Given the description of an element on the screen output the (x, y) to click on. 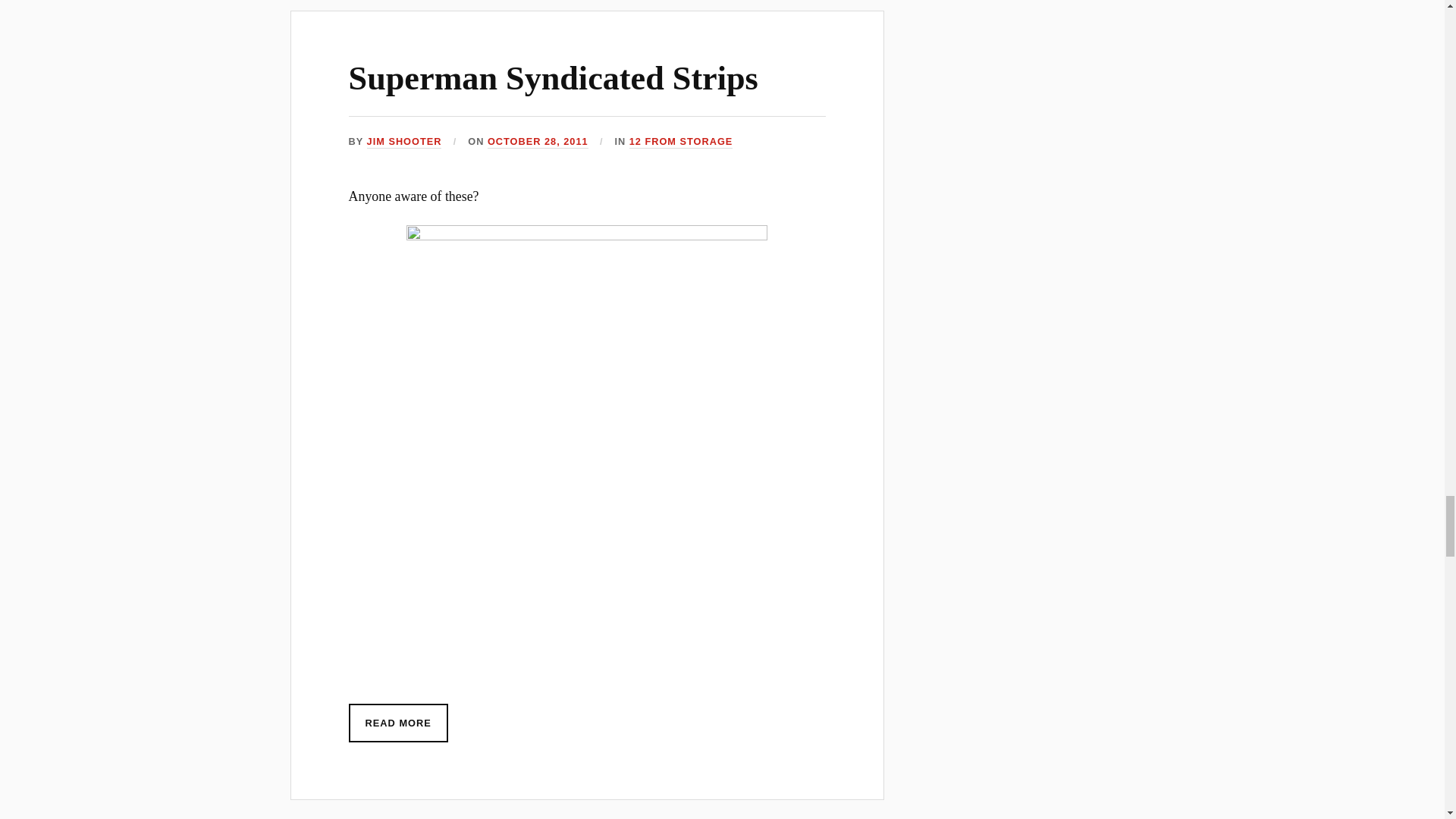
Posts by Jim Shooter (404, 141)
